Given the description of an element on the screen output the (x, y) to click on. 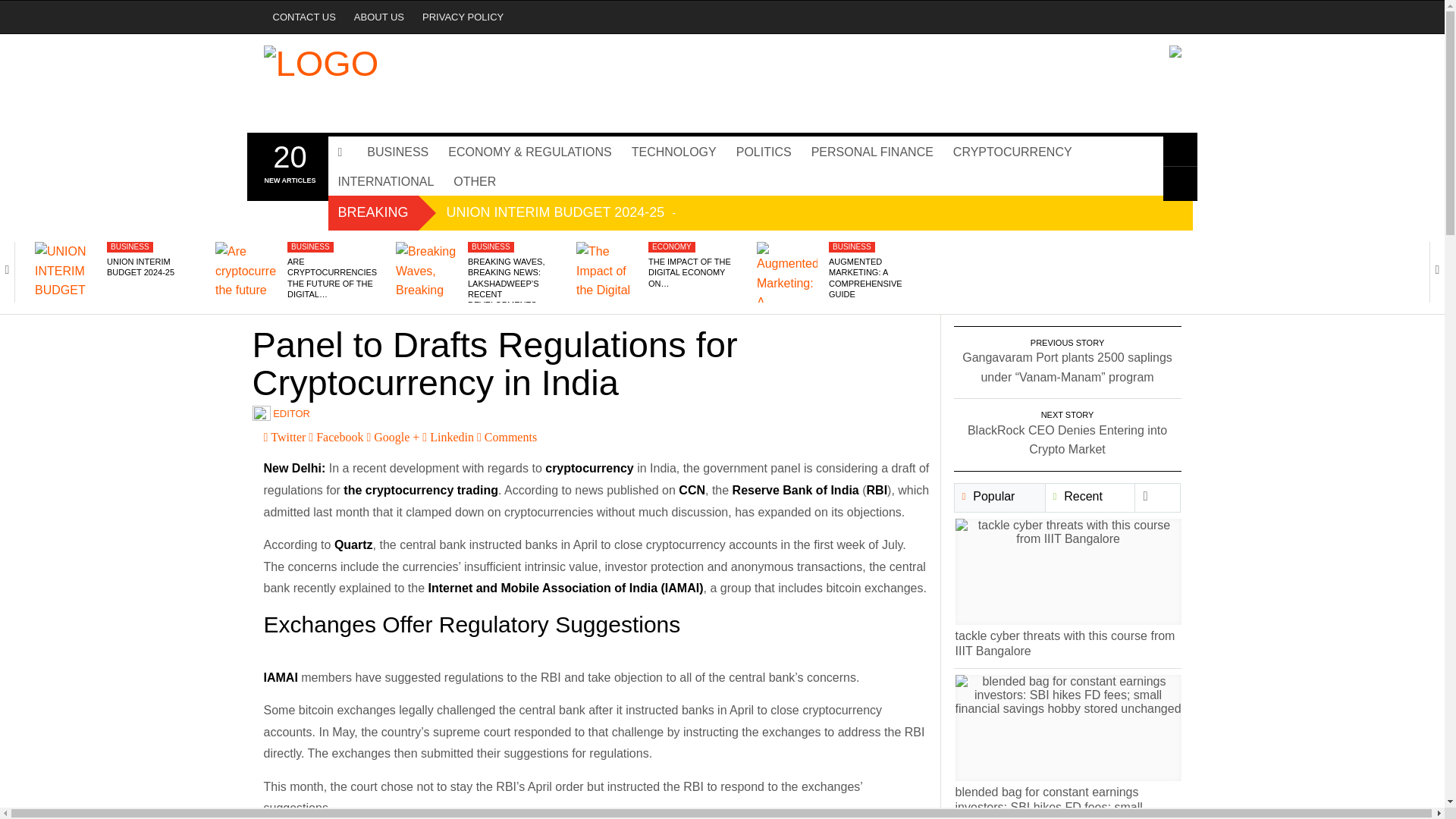
POLITICS (764, 141)
Search (1179, 139)
Digital World Economy (338, 70)
BUSINESS (397, 141)
Random (1179, 173)
ABOUT US (379, 16)
PRIVACY POLICY (462, 16)
CONTACT US (304, 16)
TECHNOLOGY (673, 141)
